Given the description of an element on the screen output the (x, y) to click on. 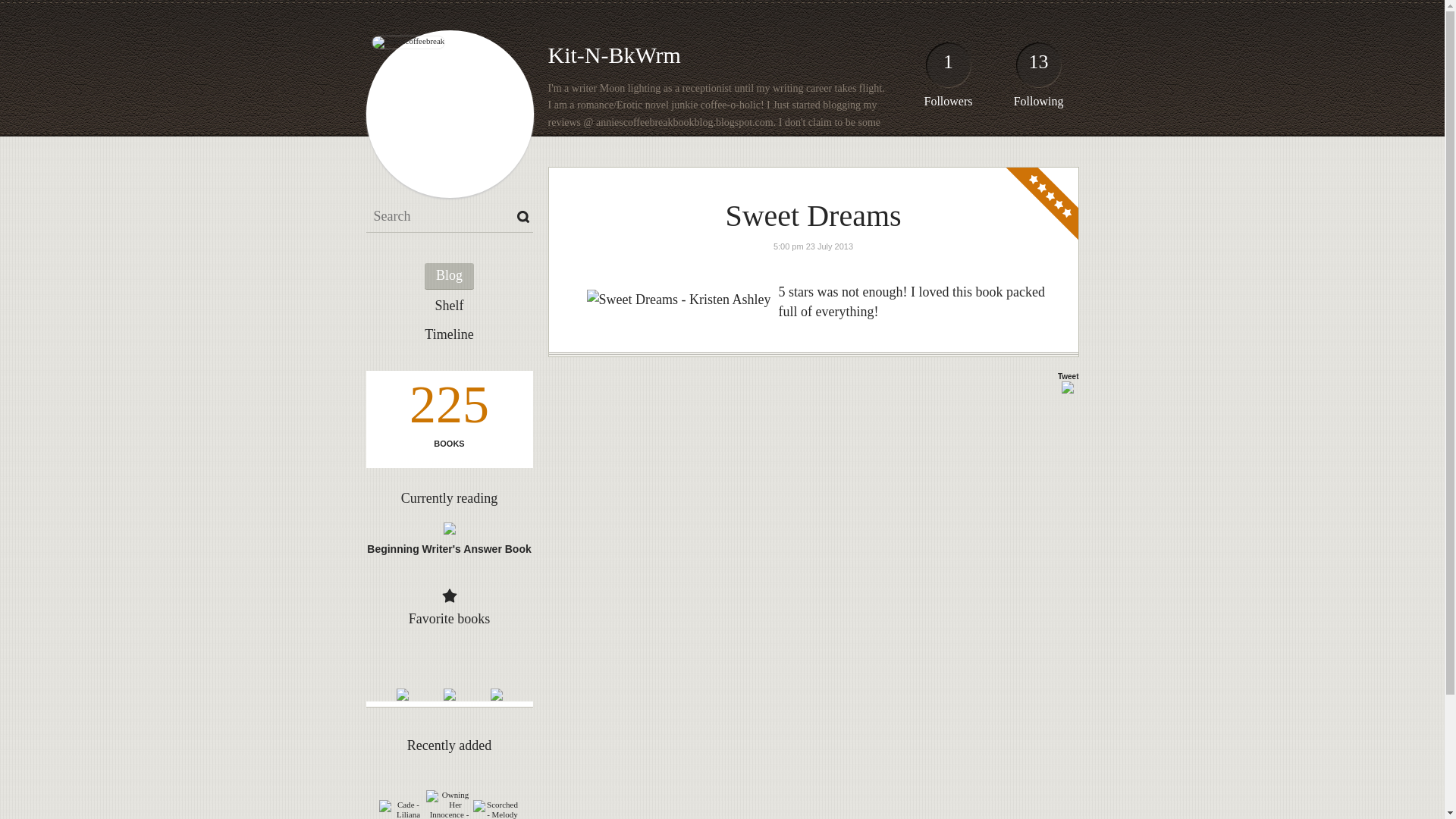
Blog (449, 275)
Shelf (448, 306)
5:00 pm 23 July 2013 (813, 245)
225 (448, 408)
Recently added (449, 744)
Kit-N-BkWrm (613, 54)
1 (947, 67)
Tweet (1068, 376)
Currently reading (449, 498)
BOOKS (448, 443)
